Given the description of an element on the screen output the (x, y) to click on. 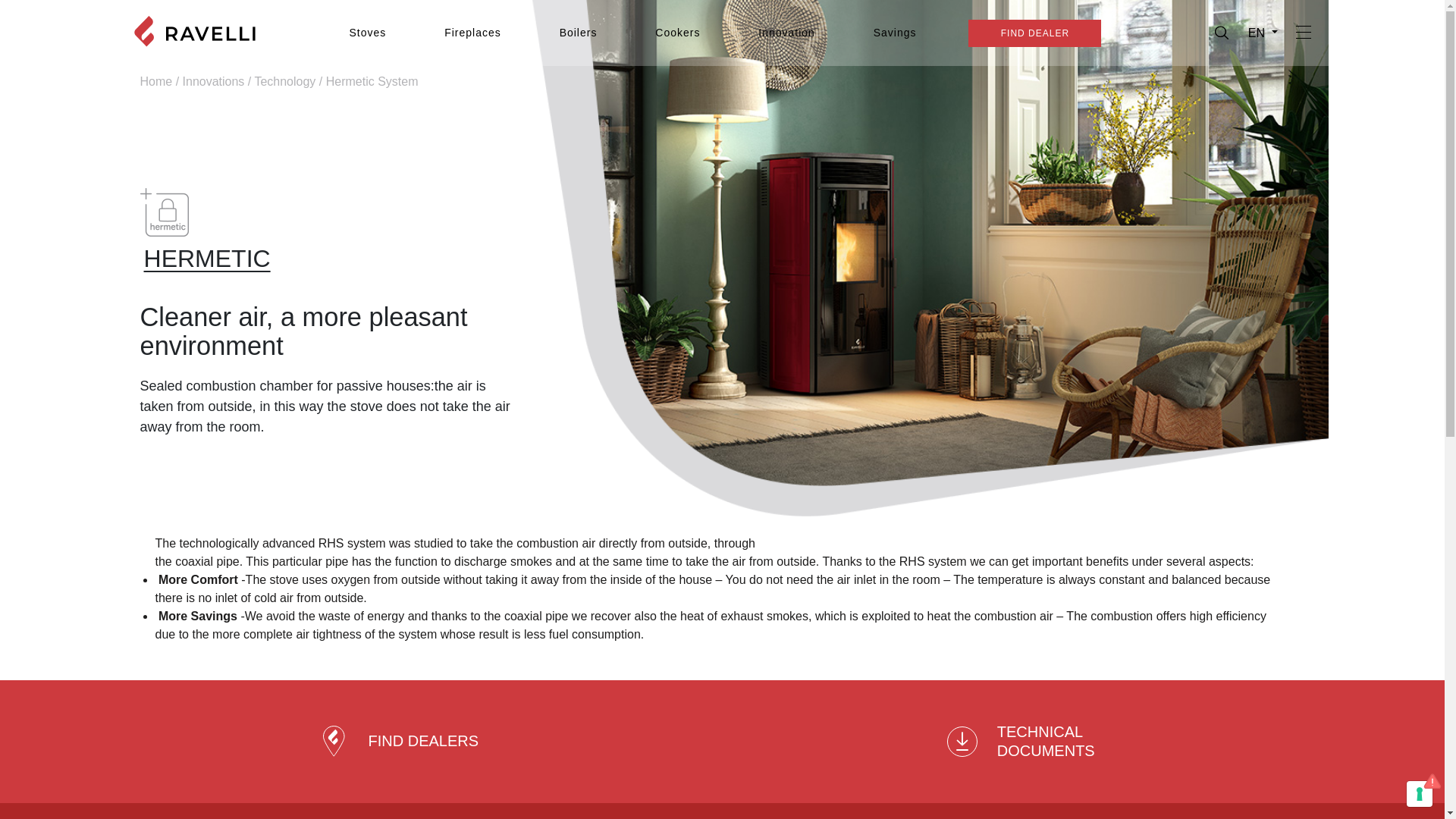
EN (1262, 31)
Savings (895, 32)
Boilers (578, 32)
FIND DEALER (1034, 32)
Fireplaces (472, 32)
Stoves (366, 32)
Cookers (677, 32)
Innovation (786, 32)
